Given the description of an element on the screen output the (x, y) to click on. 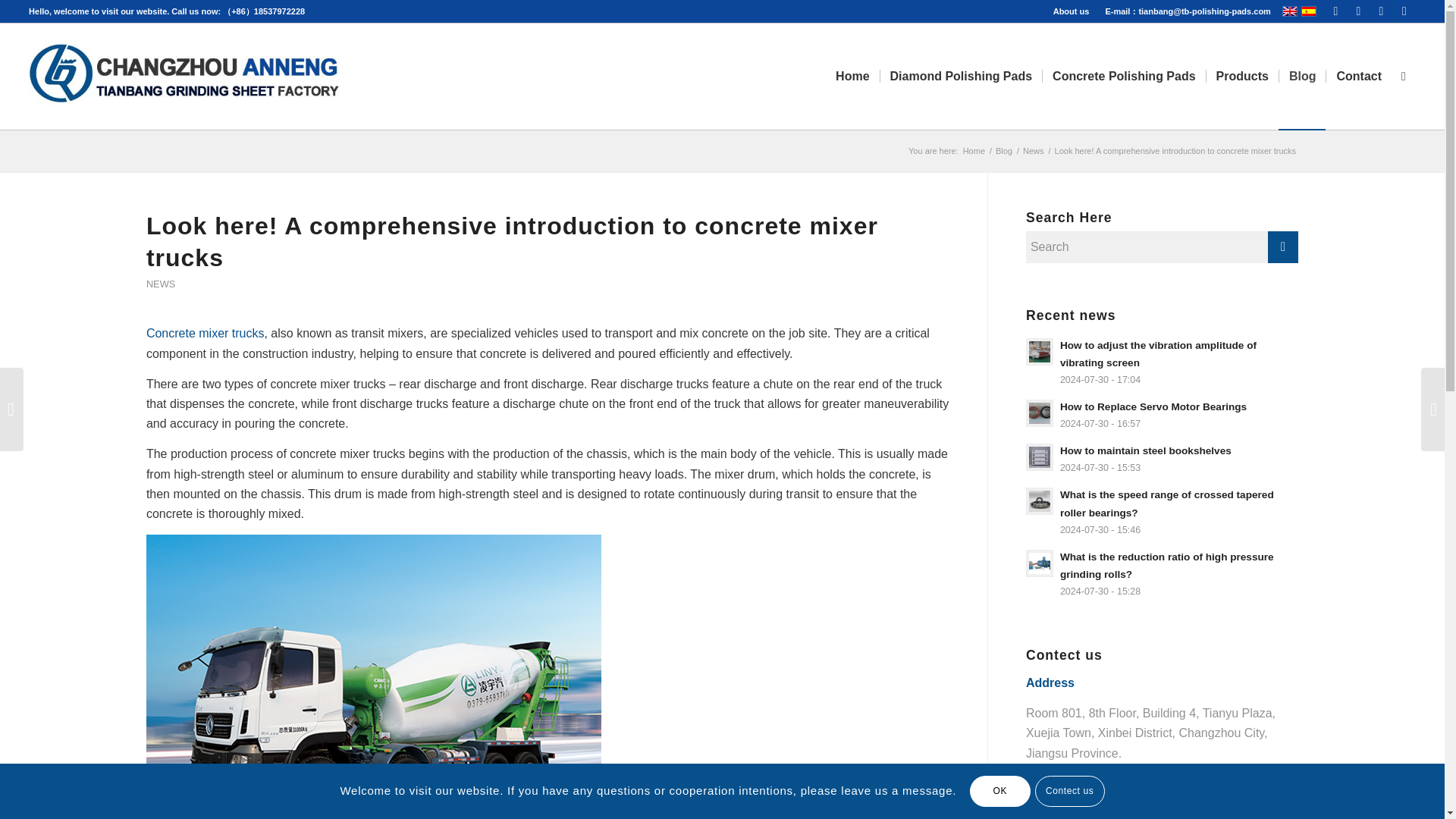
About us (1070, 11)
Blog (1003, 151)
Facebook (1335, 11)
Home (973, 151)
Diamond Polishing Pads (960, 76)
News (1033, 151)
TB pads (973, 151)
Concrete Polishing Pads (1123, 76)
